Given the description of an element on the screen output the (x, y) to click on. 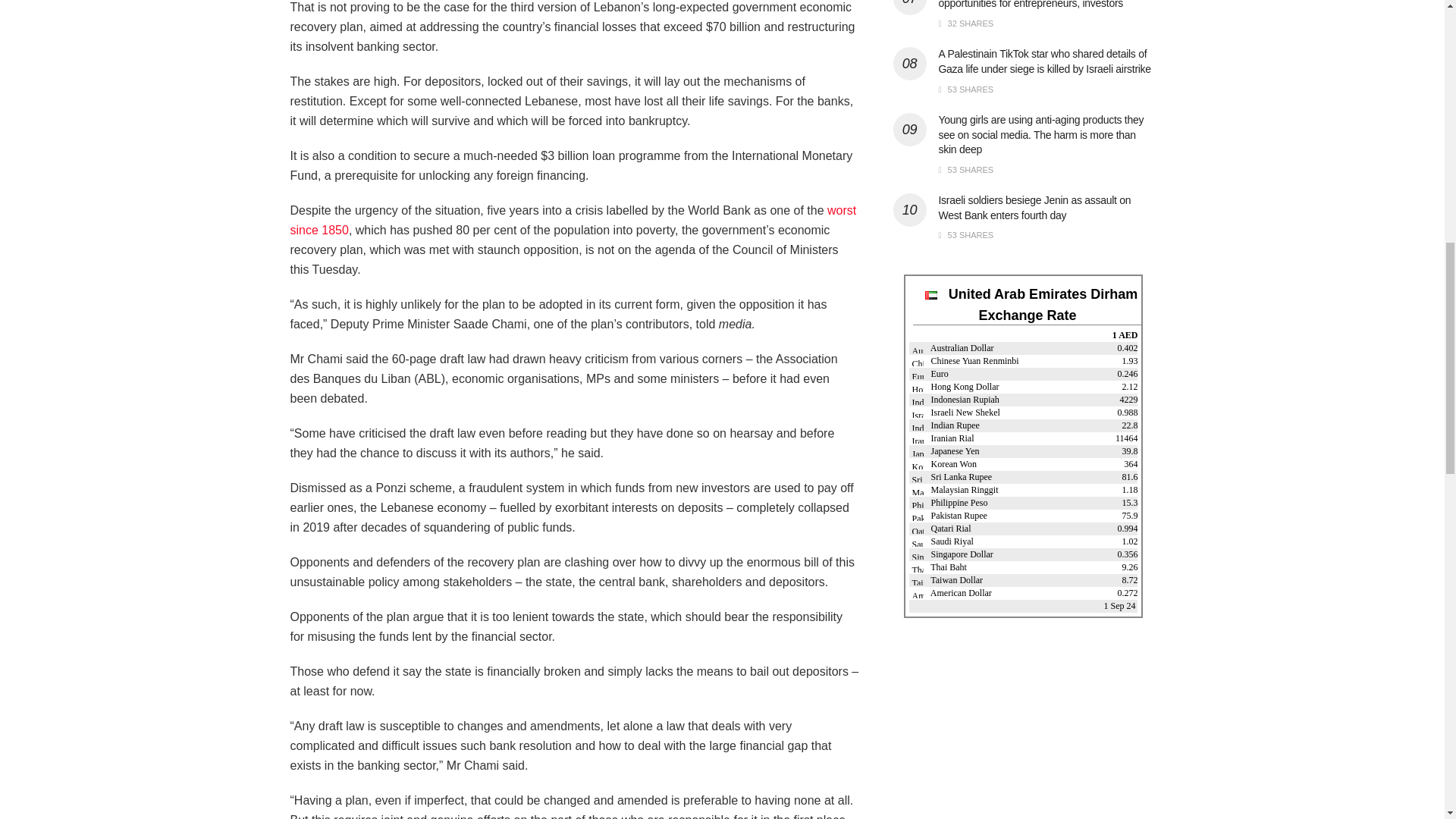
Indonesian Rupiah (917, 400)
Hong Kong Dollar (917, 388)
Chinese Yuan Renminbi (917, 361)
Euro (917, 375)
Hong Kong Dollar (954, 386)
Chinese Yuan Renminbi (964, 360)
Australian Dollar (951, 347)
Euro (929, 373)
Australian Dollar (917, 348)
Indonesian Rupiah (954, 398)
